Given the description of an element on the screen output the (x, y) to click on. 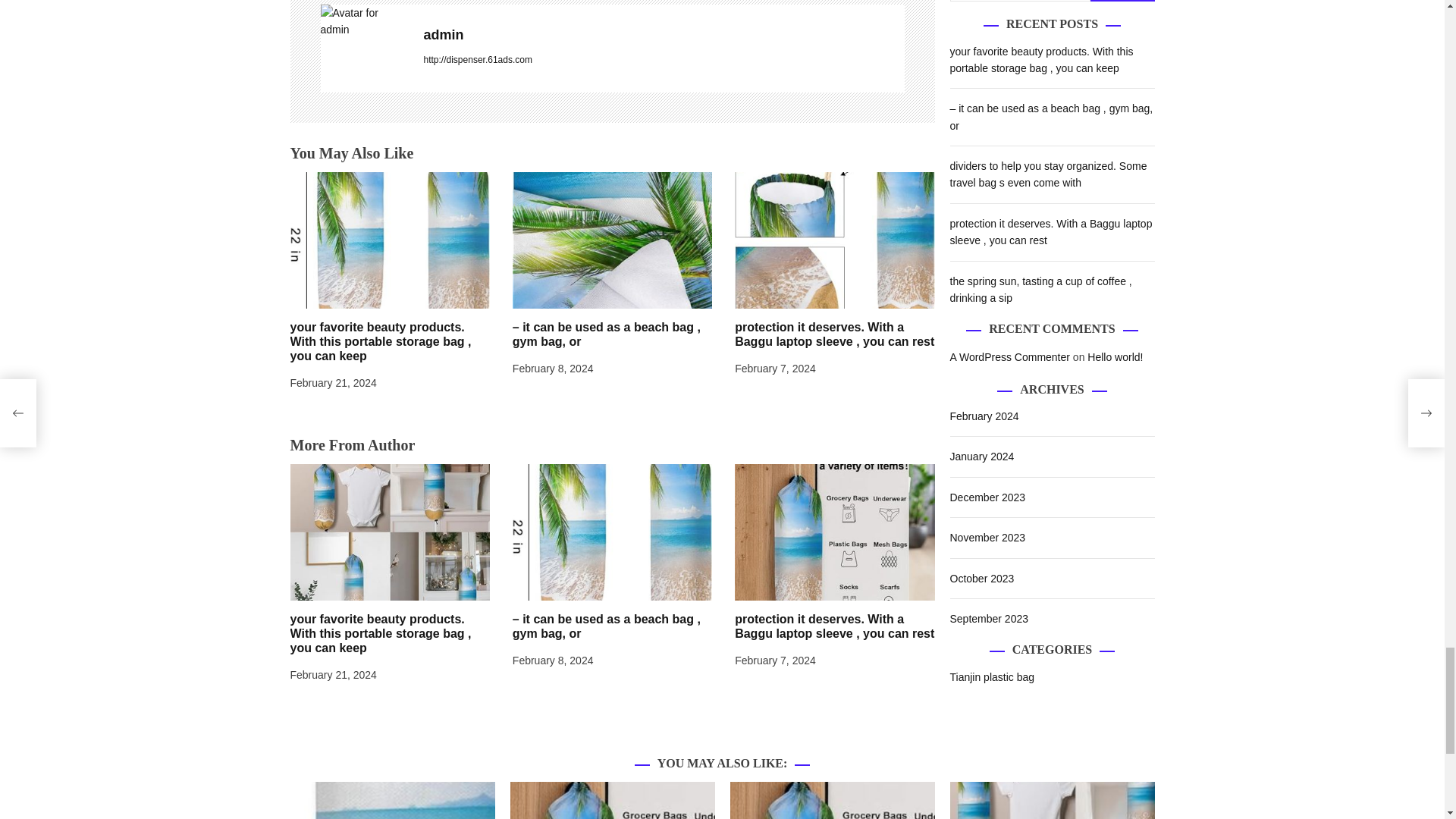
admin (363, 48)
admin (663, 34)
